Given the description of an element on the screen output the (x, y) to click on. 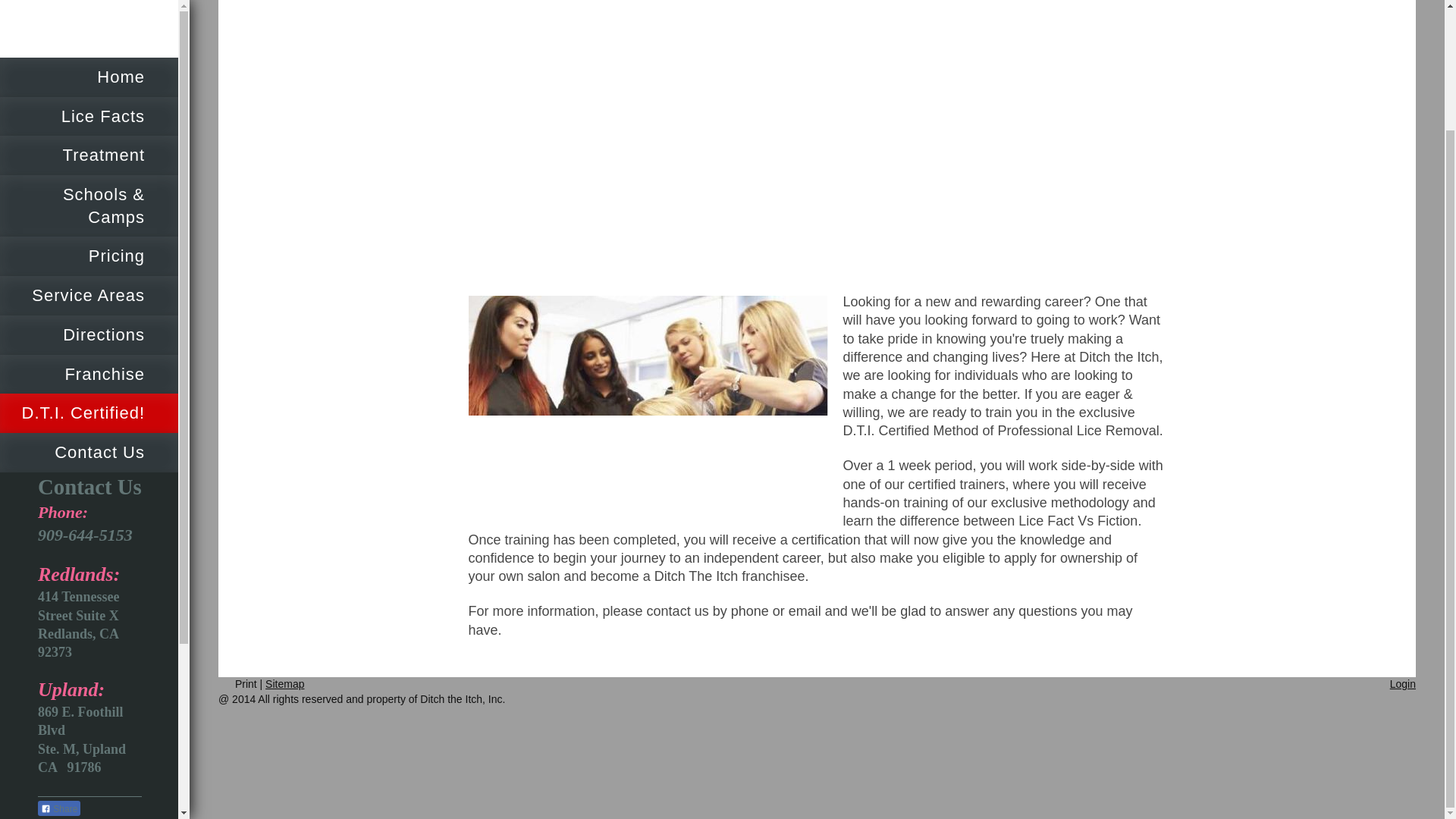
Reddit (121, 716)
Facebook (75, 716)
Franchise (88, 230)
Directions (88, 190)
Print (239, 684)
Sitemap (284, 684)
Service Areas (88, 151)
D.T.I. Certified! (88, 269)
Tumblr (98, 746)
Stumble Upon (75, 746)
